Given the description of an element on the screen output the (x, y) to click on. 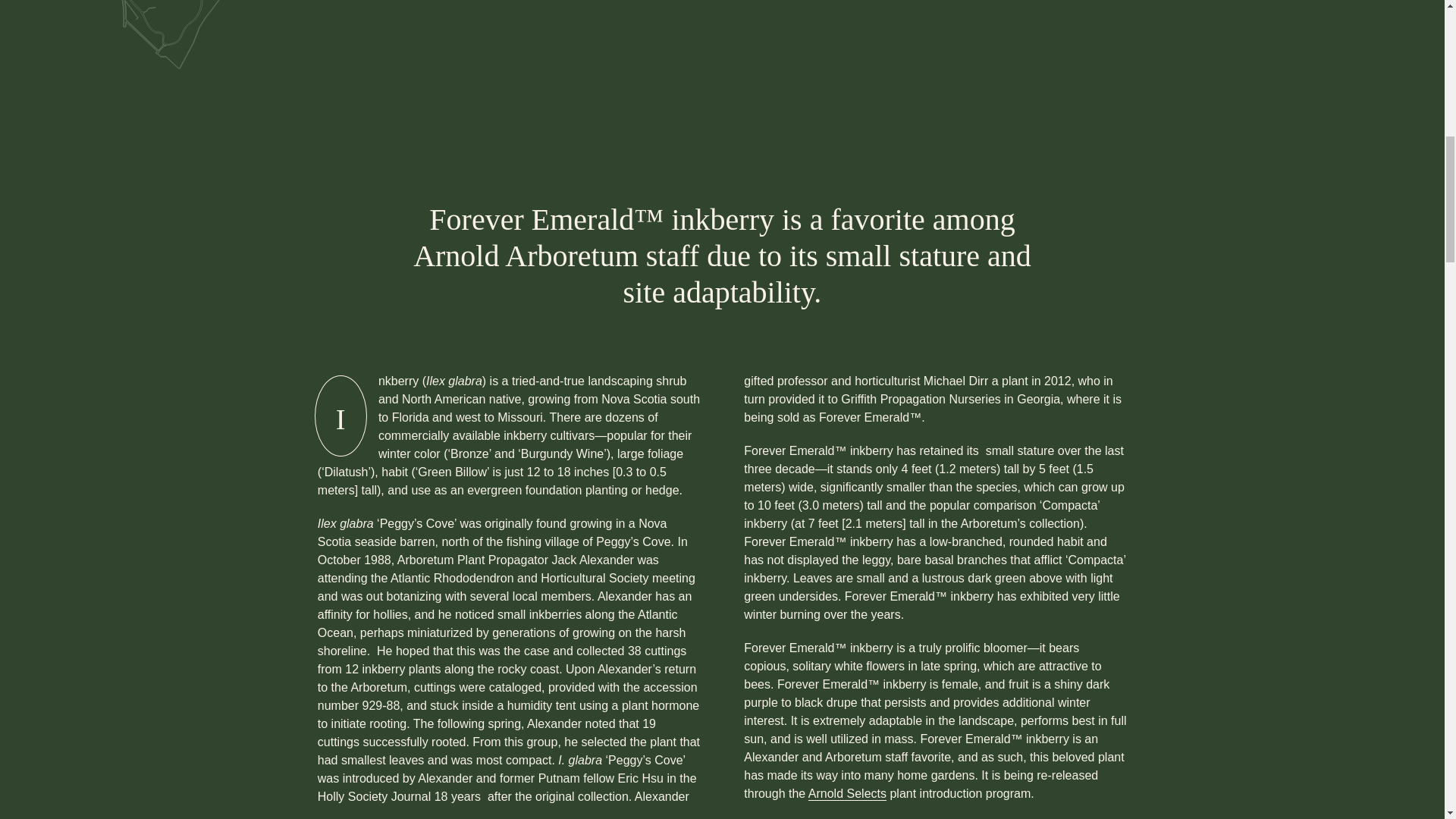
Arnold Selects (847, 793)
